Given the description of an element on the screen output the (x, y) to click on. 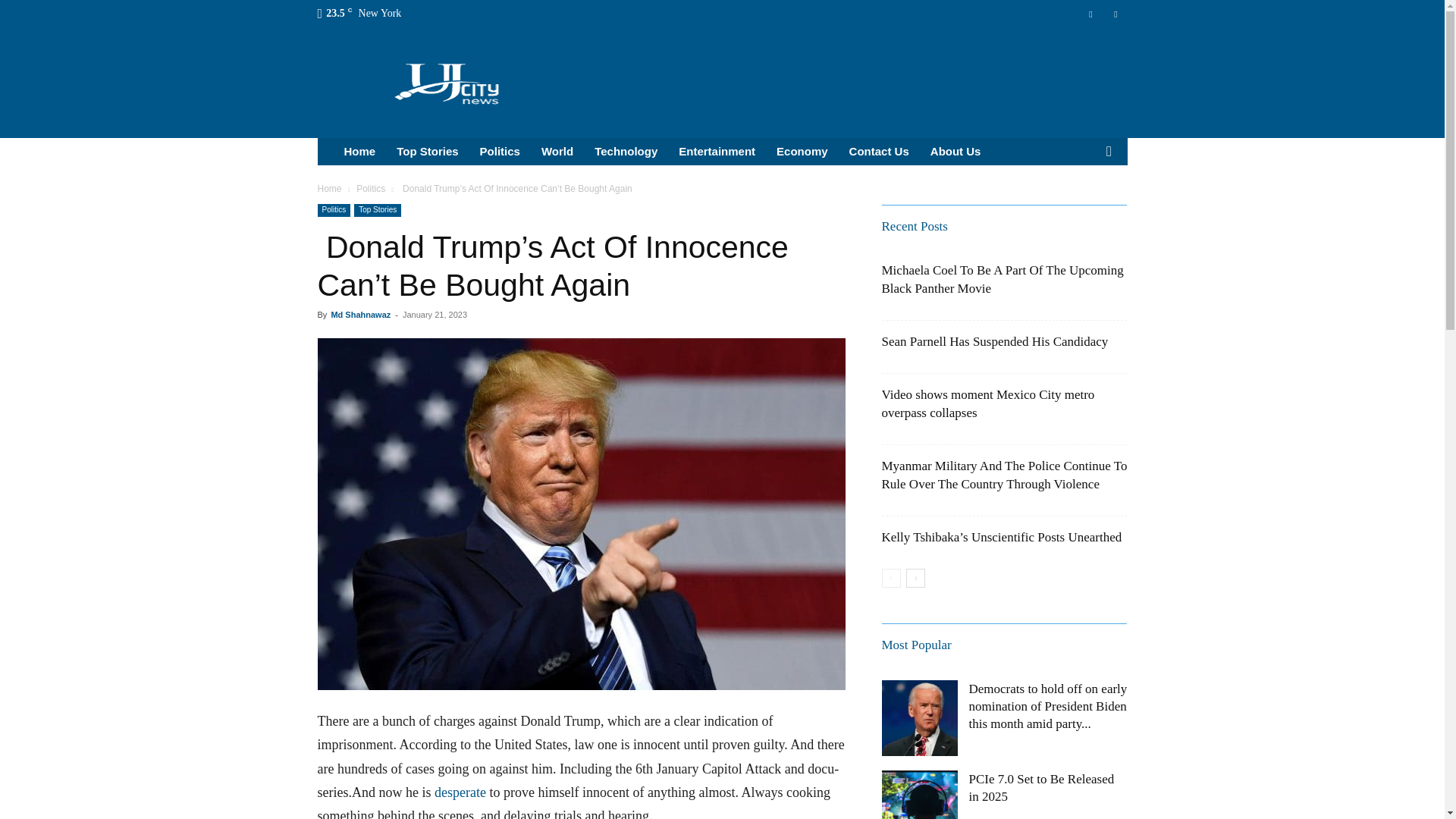
Search (1085, 207)
Home (360, 151)
Home (328, 188)
Contact Us (879, 151)
About Us (955, 151)
View all posts in Politics (370, 188)
Entertainment (716, 151)
Politics (370, 188)
Top Stories (426, 151)
Economy (801, 151)
desperate (459, 792)
Politics (333, 210)
The Union Journal (446, 82)
Technology (625, 151)
